Given the description of an element on the screen output the (x, y) to click on. 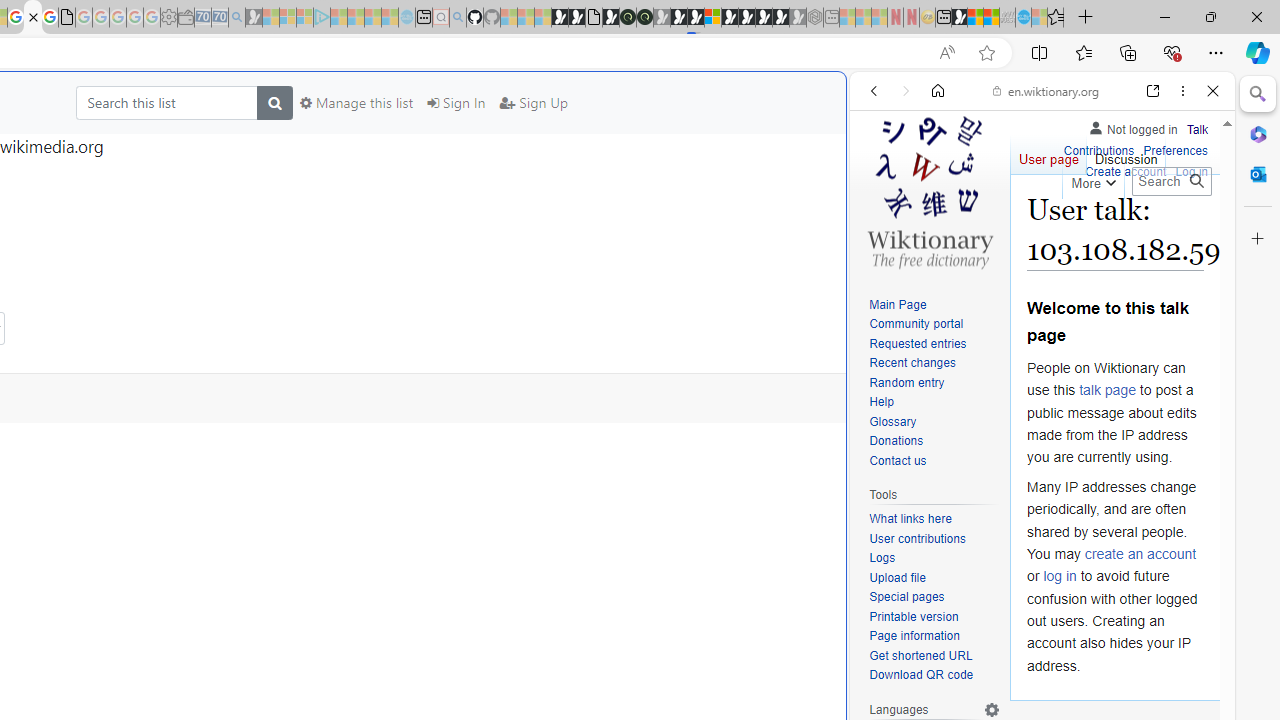
Download QR code (934, 676)
What links here (910, 519)
More (1092, 179)
Logs (882, 557)
Get shortened URL (934, 655)
Earth has six continents not seven, radical new study claims (991, 17)
